Given the description of an element on the screen output the (x, y) to click on. 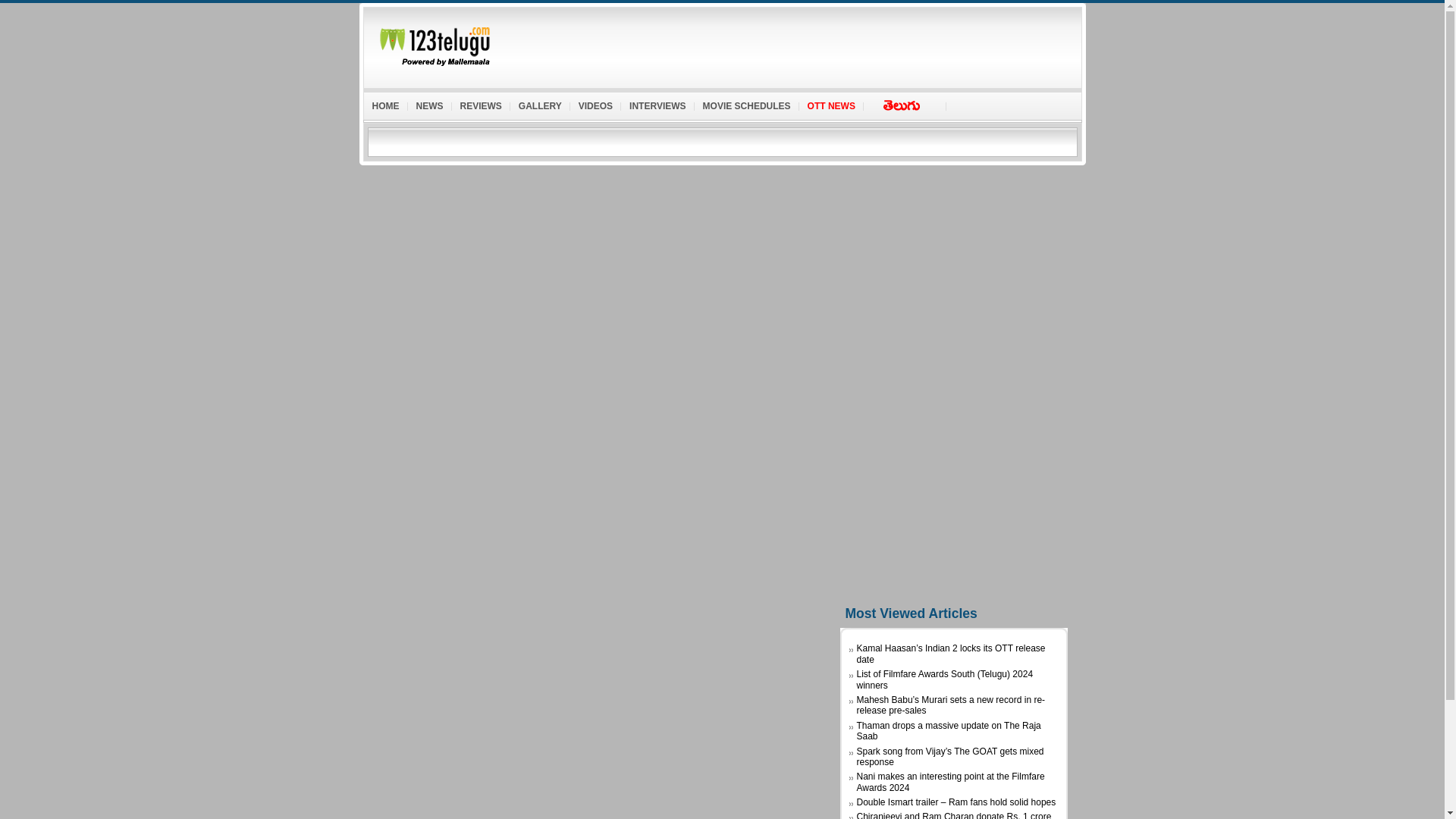
GALLERY (540, 103)
INTERVIEWS (657, 103)
NEWS (429, 103)
MOVIE SCHEDULES (746, 103)
OTT NEWS (831, 103)
Nani makes an interesting point at the Filmfare Awards 2024 (951, 781)
REVIEWS (481, 103)
Advertisement (799, 43)
HOME (385, 103)
VIDEOS (595, 103)
Advertisement (953, 371)
Thaman drops a massive update on The Raja Saab (949, 731)
